Given the description of an element on the screen output the (x, y) to click on. 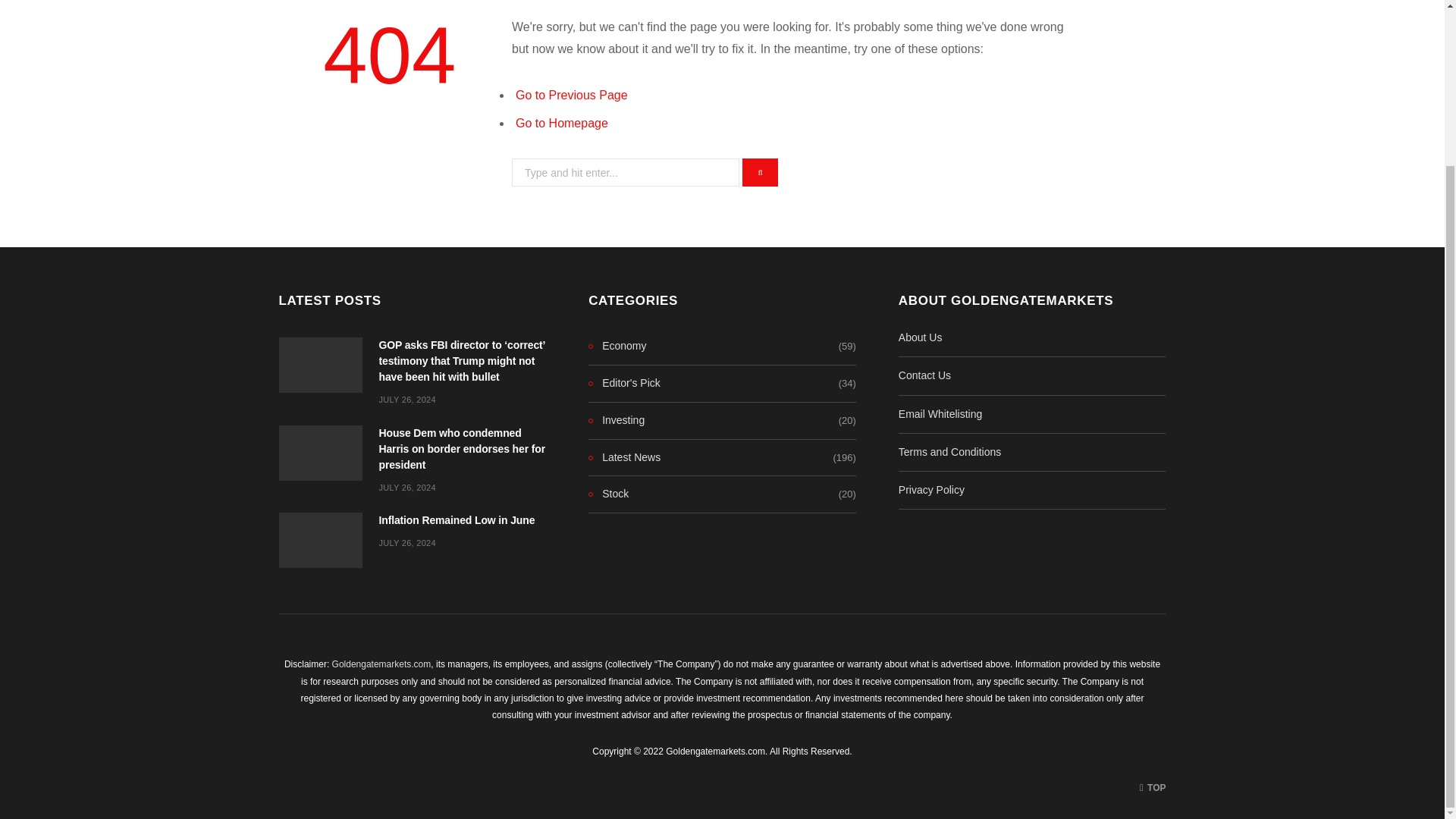
Investing (616, 420)
JULY 26, 2024 (406, 542)
Stock (608, 494)
Privacy Policy (930, 490)
Terms and Conditions (949, 451)
Editor's Pick (624, 383)
Inflation Remained Low in June (456, 520)
Go to Previous Page (571, 94)
Contact Us (924, 375)
Email Whitelisting (939, 413)
Inflation Remained Low in June (320, 540)
Latest News (624, 457)
JULY 26, 2024 (406, 487)
Go to Homepage (561, 123)
About Us (920, 337)
